Given the description of an element on the screen output the (x, y) to click on. 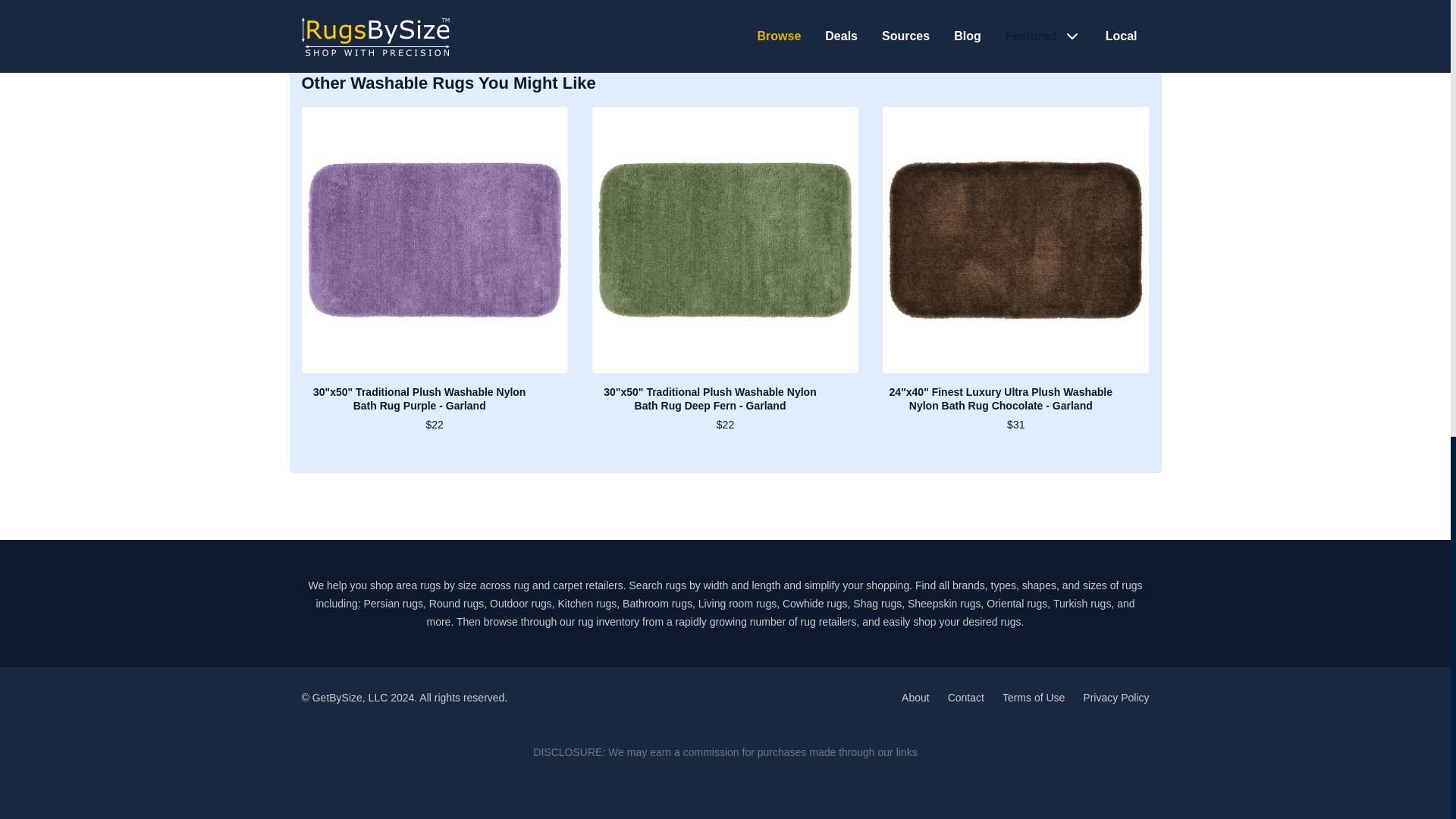
Privacy Policy (1115, 697)
Contact (965, 697)
clear (337, 3)
About (915, 697)
select (375, 3)
Terms of Use (1033, 697)
